Given the description of an element on the screen output the (x, y) to click on. 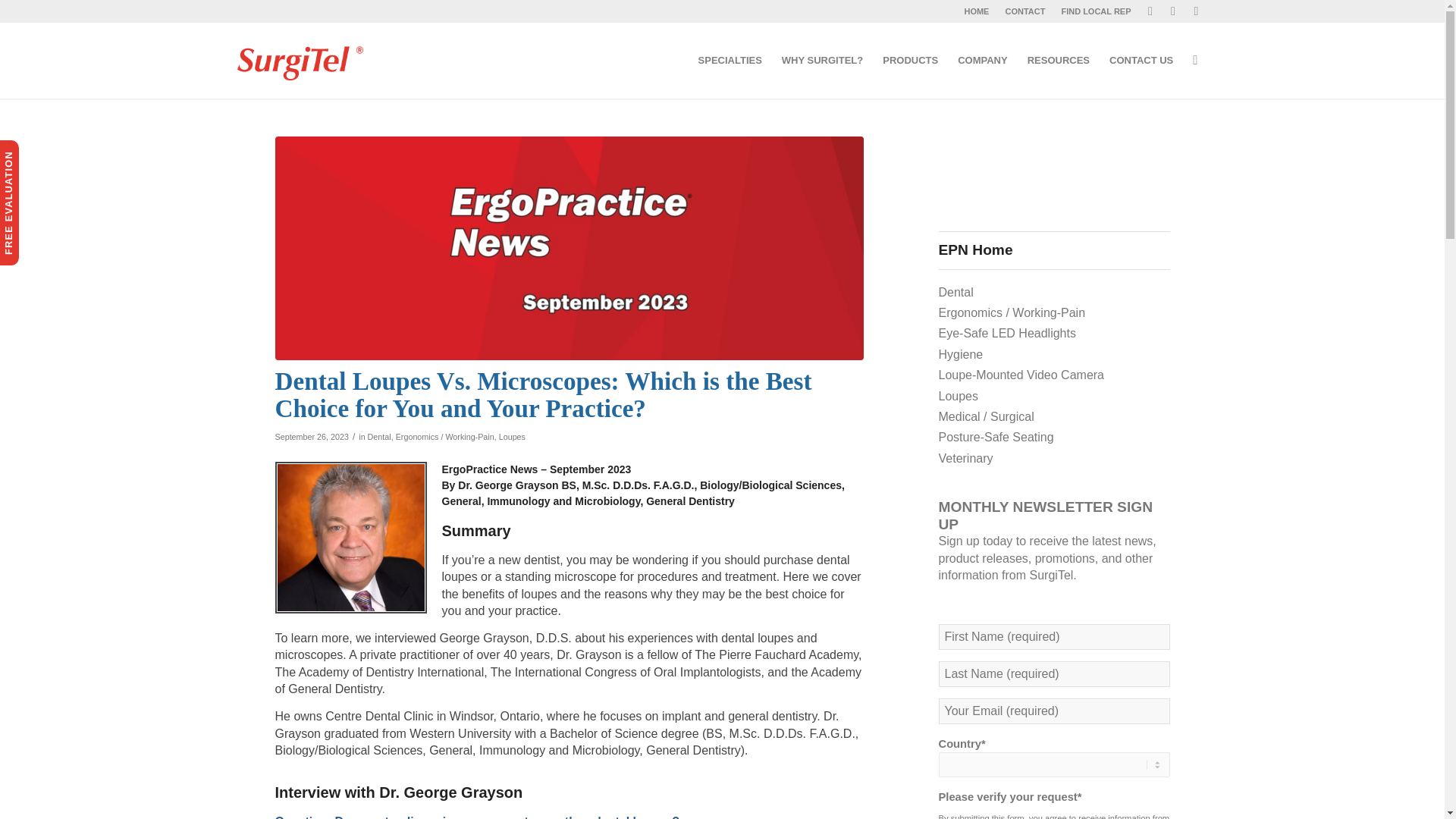
RESOURCES (1058, 60)
WHY SURGITEL? (821, 60)
Instagram (1172, 11)
Facebook (1149, 11)
Dental (379, 436)
CONTACT (1024, 11)
HOME (975, 11)
CONTACT US (1140, 60)
FIND LOCAL REP (1096, 11)
ErgoPractice News Blog Hero September 2023 (569, 248)
